Given the description of an element on the screen output the (x, y) to click on. 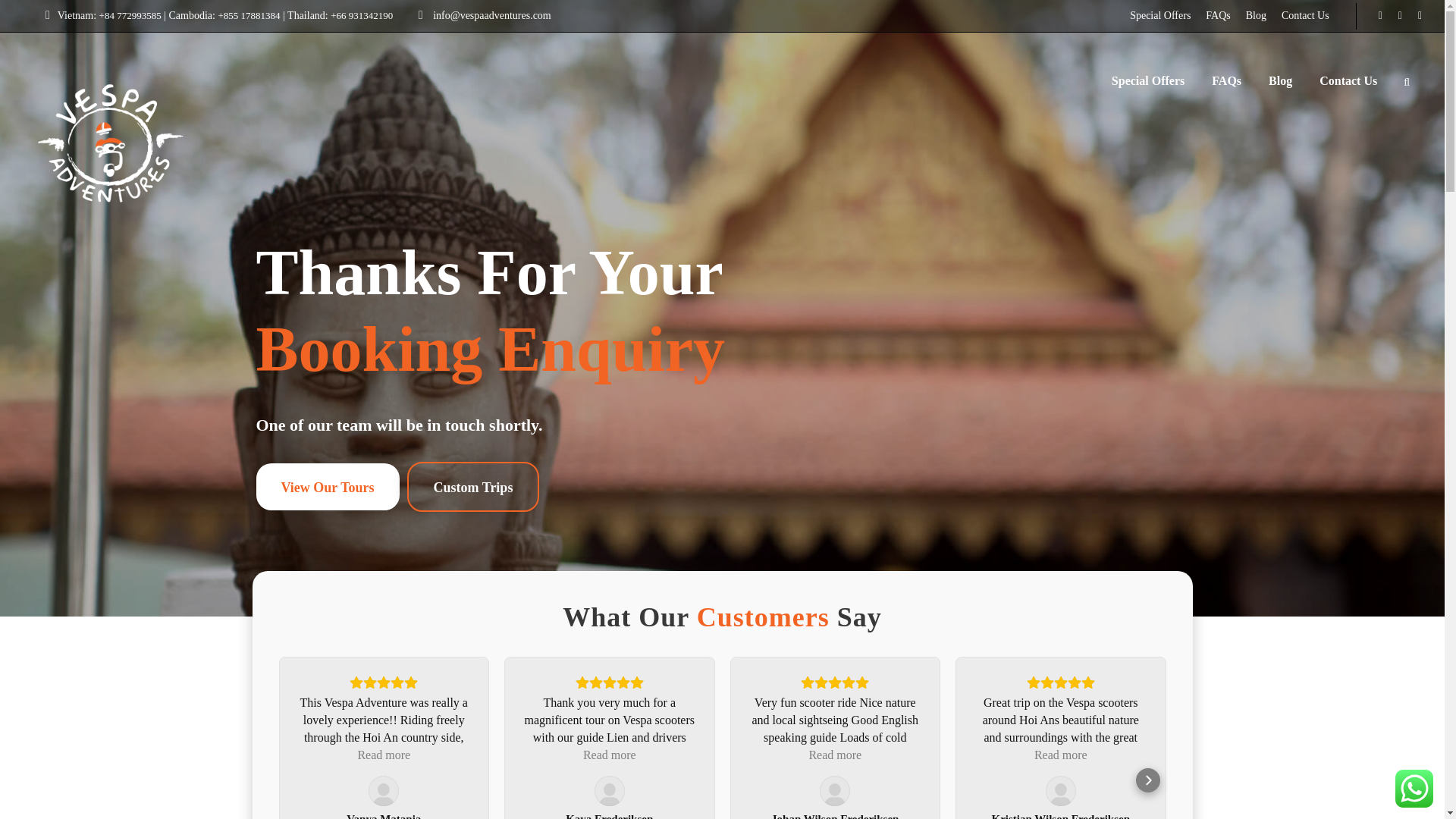
Blog (1256, 15)
FAQs (1217, 15)
Contact Us (1348, 88)
Vespa Logo Main White (110, 143)
Special Offers (1148, 88)
Special Offers (1160, 15)
View Our Tours (327, 486)
Contact Us (1305, 15)
